Given the description of an element on the screen output the (x, y) to click on. 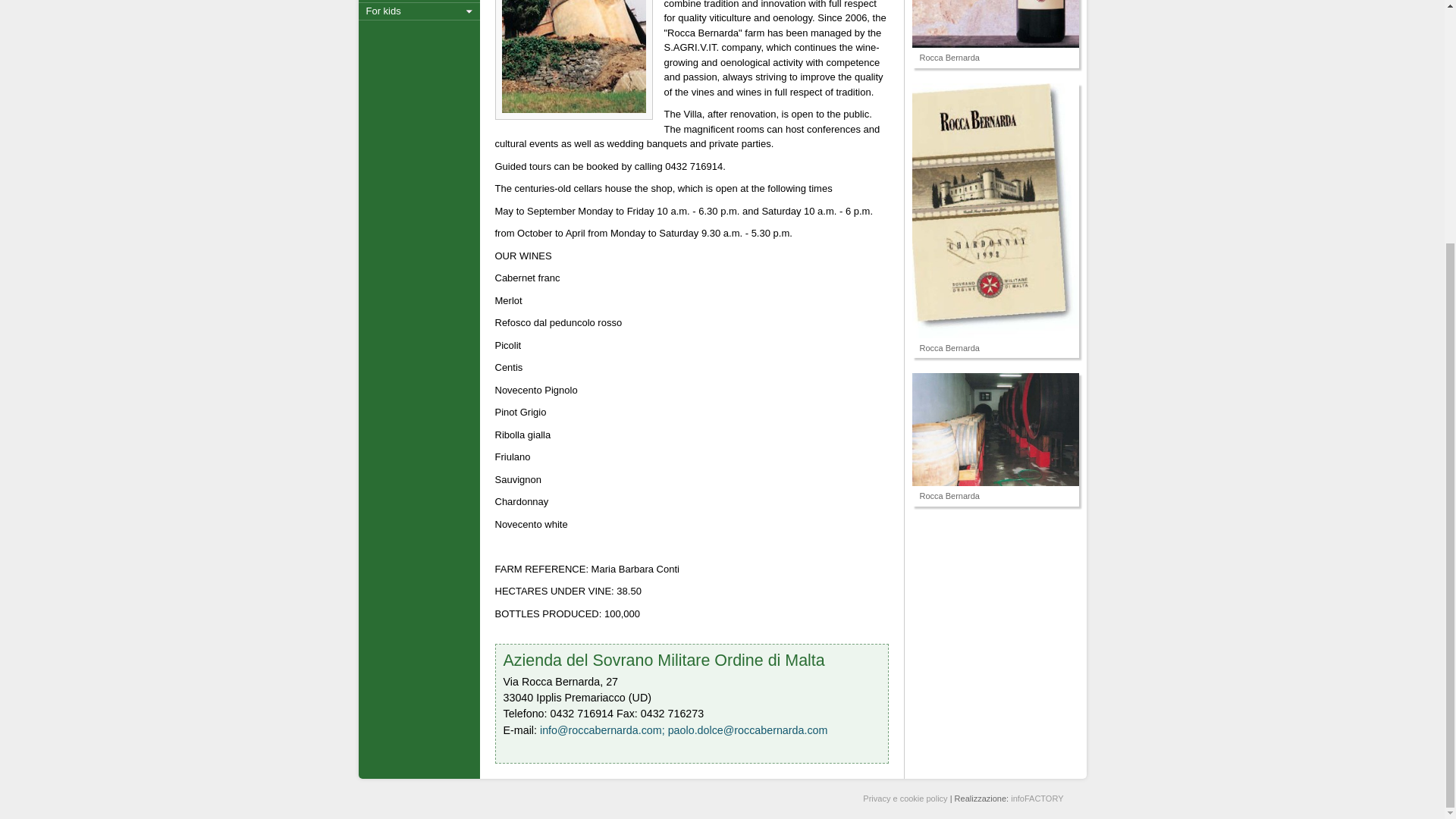
News from the castles (418, 1)
Rocca Bernarda (994, 23)
Rocca Bernarda (994, 210)
Rocca Bernarda (994, 429)
For kids (418, 11)
